Given the description of an element on the screen output the (x, y) to click on. 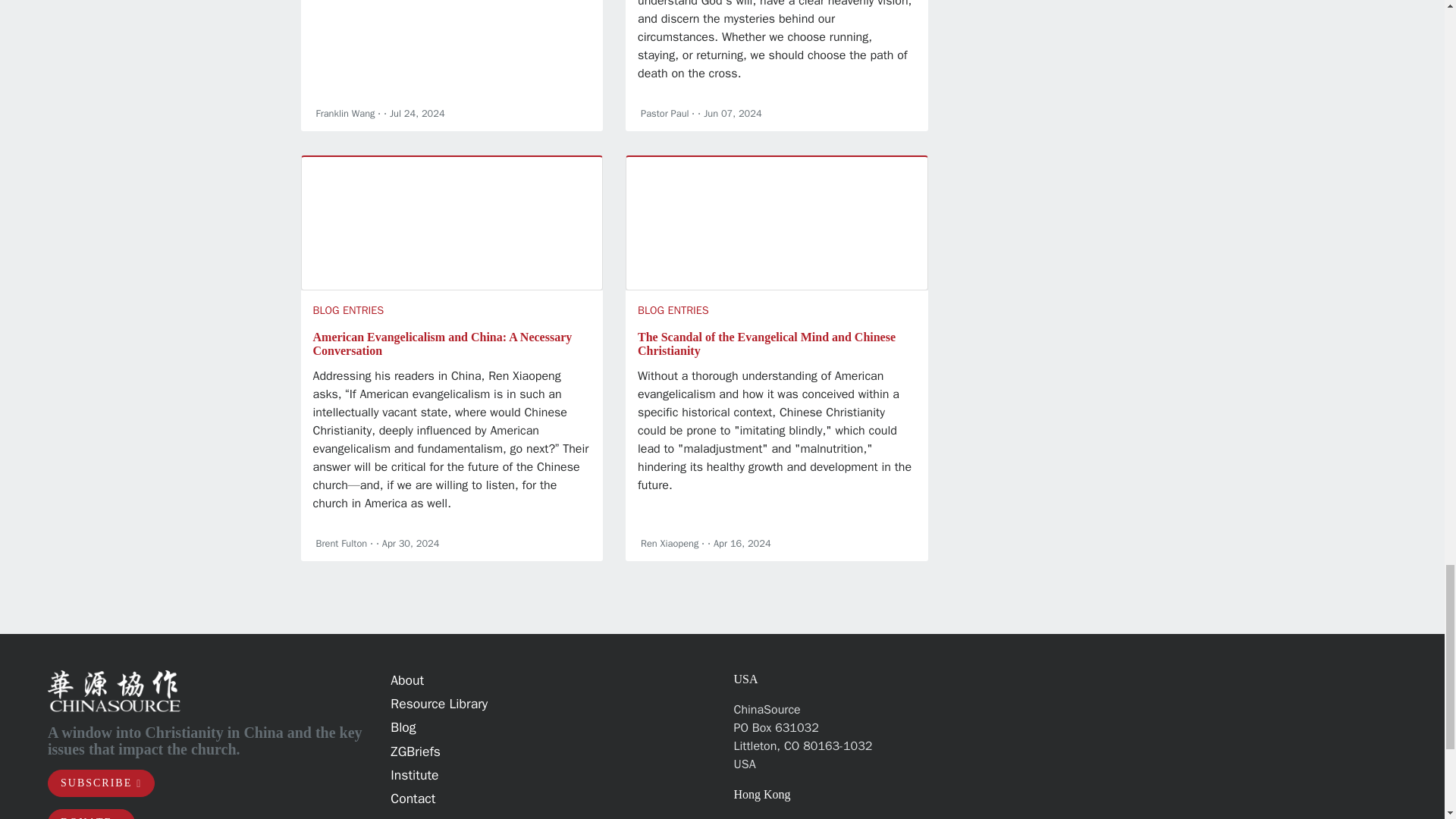
BLOG ENTRIES (348, 309)
